Given the description of an element on the screen output the (x, y) to click on. 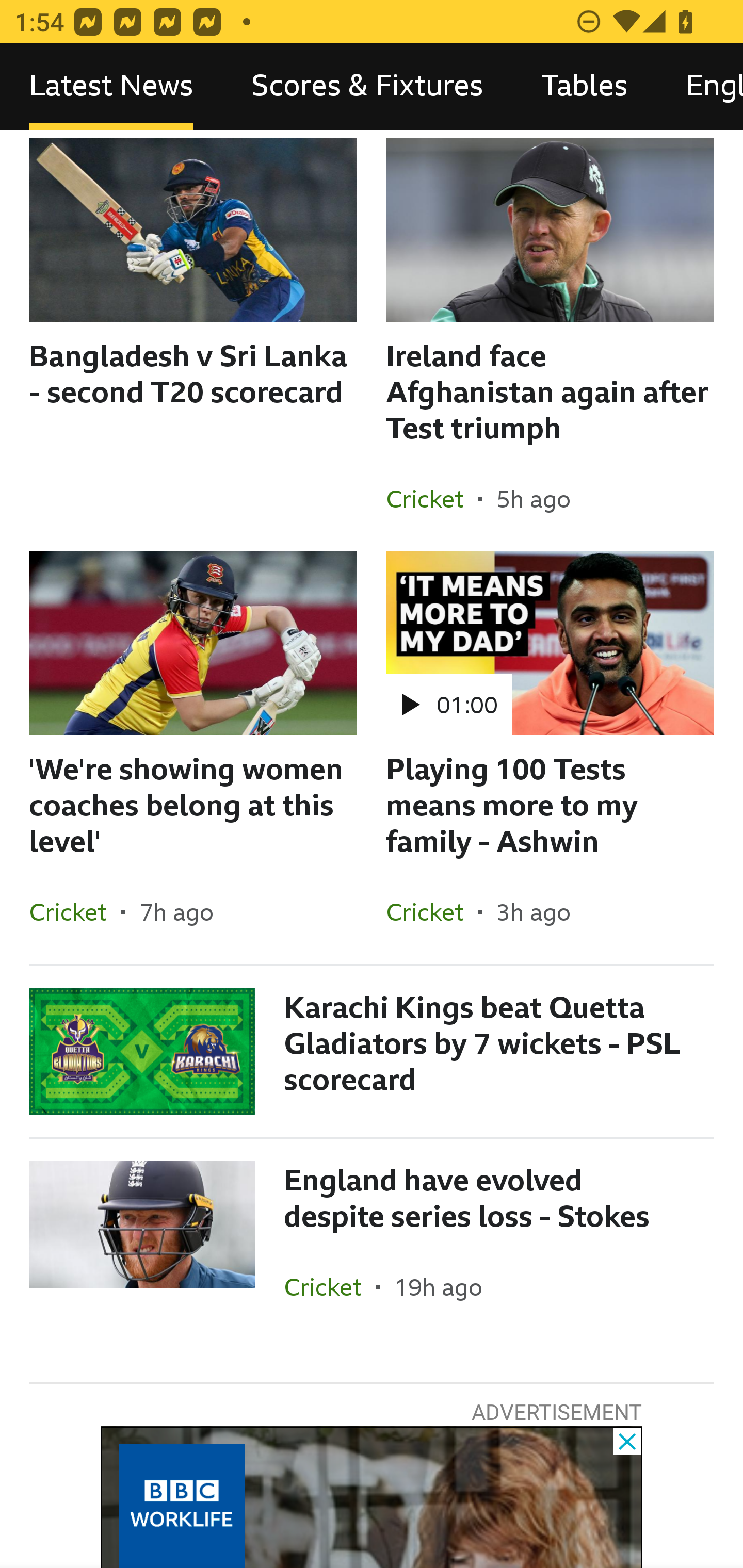
Latest News, selected Latest News (111, 86)
Scores & Fixtures (367, 86)
Tables (584, 86)
Bangladesh v Sri Lanka - second T20 scorecard (192, 343)
Cricket In the section Cricket (431, 498)
Cricket In the section Cricket (329, 1287)
